Given the description of an element on the screen output the (x, y) to click on. 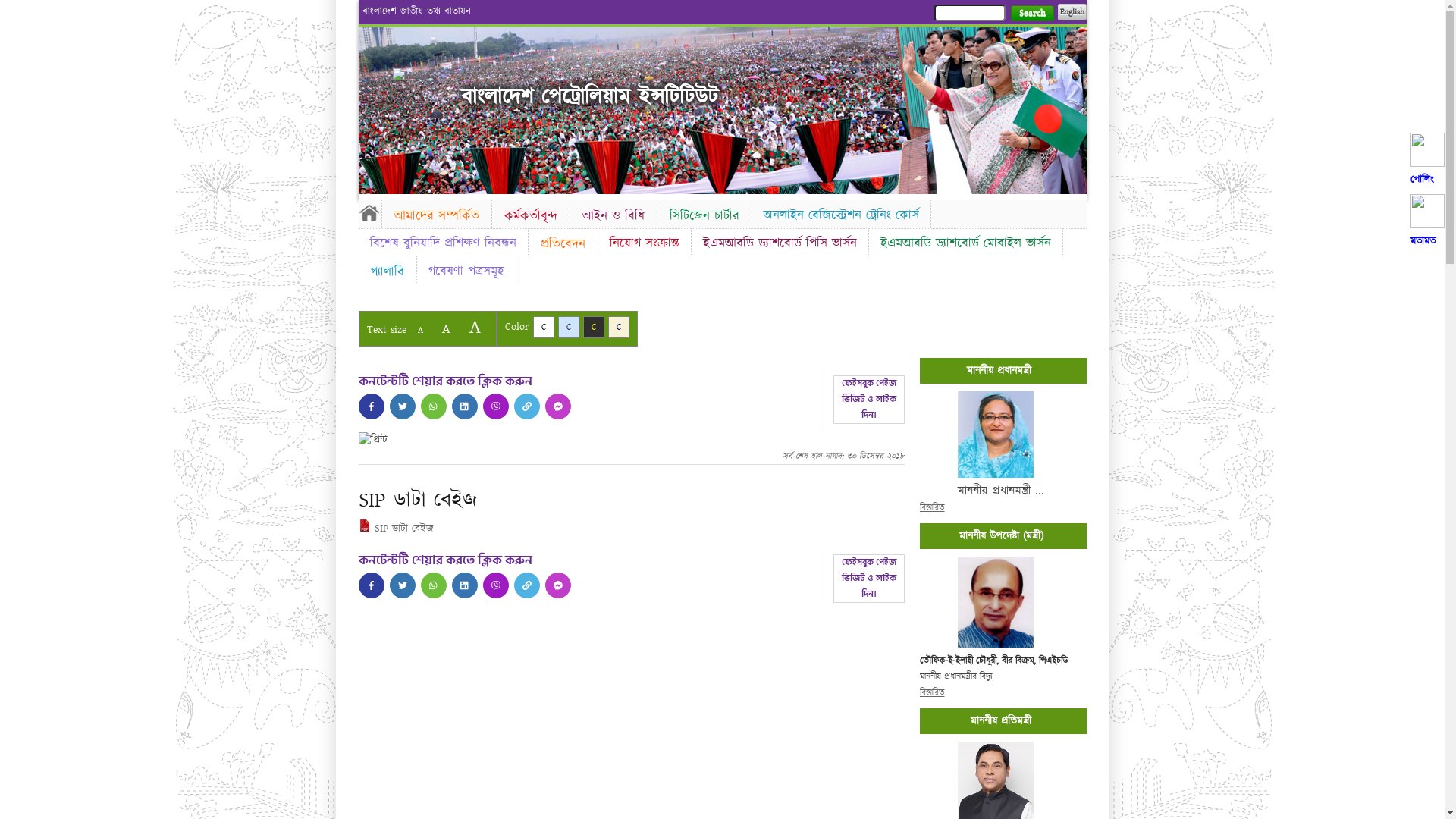
C Element type: text (568, 327)
Home Element type: hover (418, 76)
C Element type: text (542, 327)
Search Element type: text (1031, 13)
C Element type: text (618, 327)
A Element type: text (419, 330)
A Element type: text (445, 328)
C Element type: text (592, 327)
Home Element type: hover (368, 211)
A Element type: text (474, 327)
English Element type: text (1071, 11)
